Given the description of an element on the screen output the (x, y) to click on. 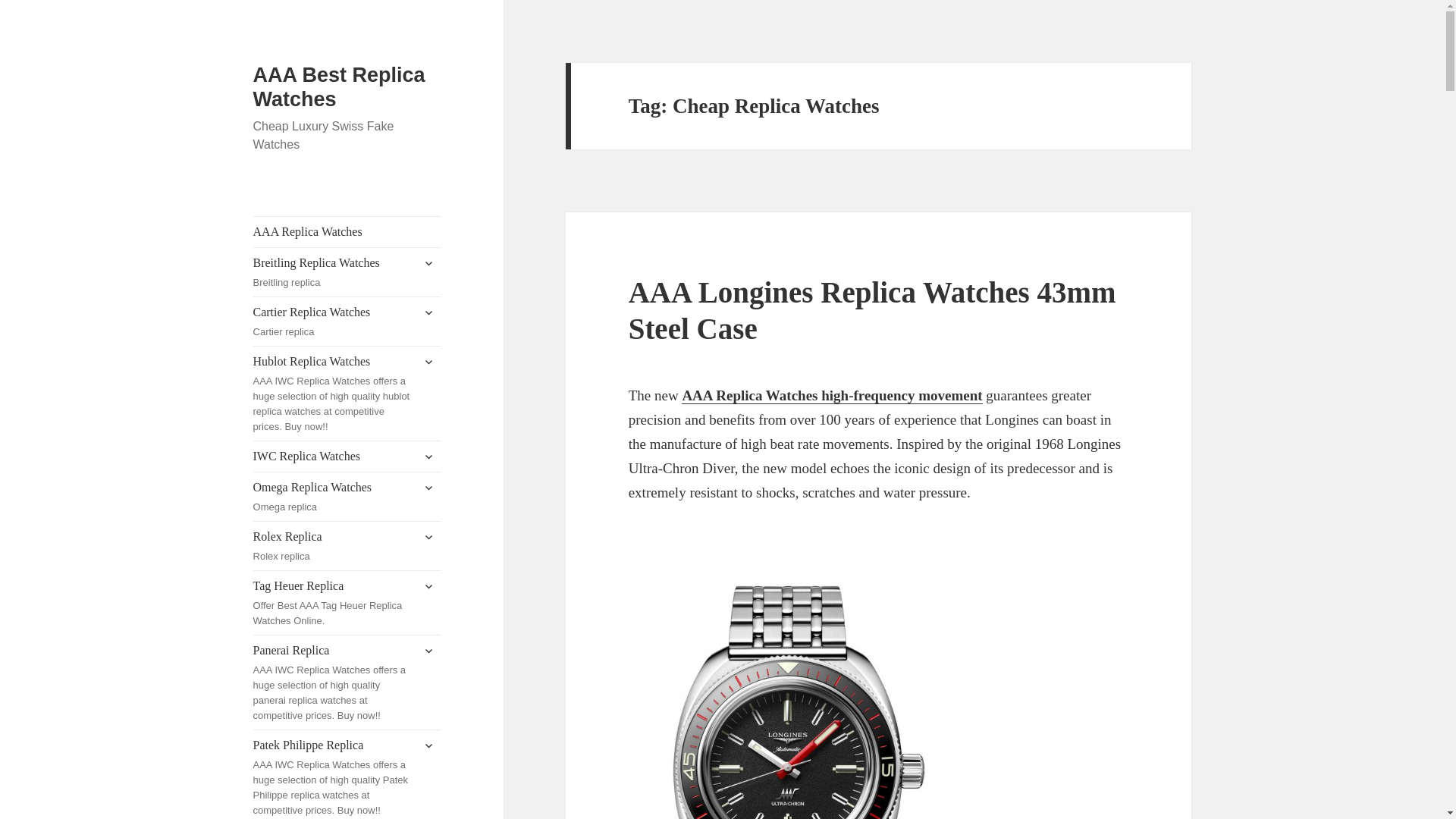
AAA Replica Watches (347, 232)
expand child menu (347, 321)
expand child menu (428, 361)
expand child menu (428, 456)
AAA Best Replica Watches (428, 312)
expand child menu (339, 86)
IWC Replica Watches (428, 262)
